Given the description of an element on the screen output the (x, y) to click on. 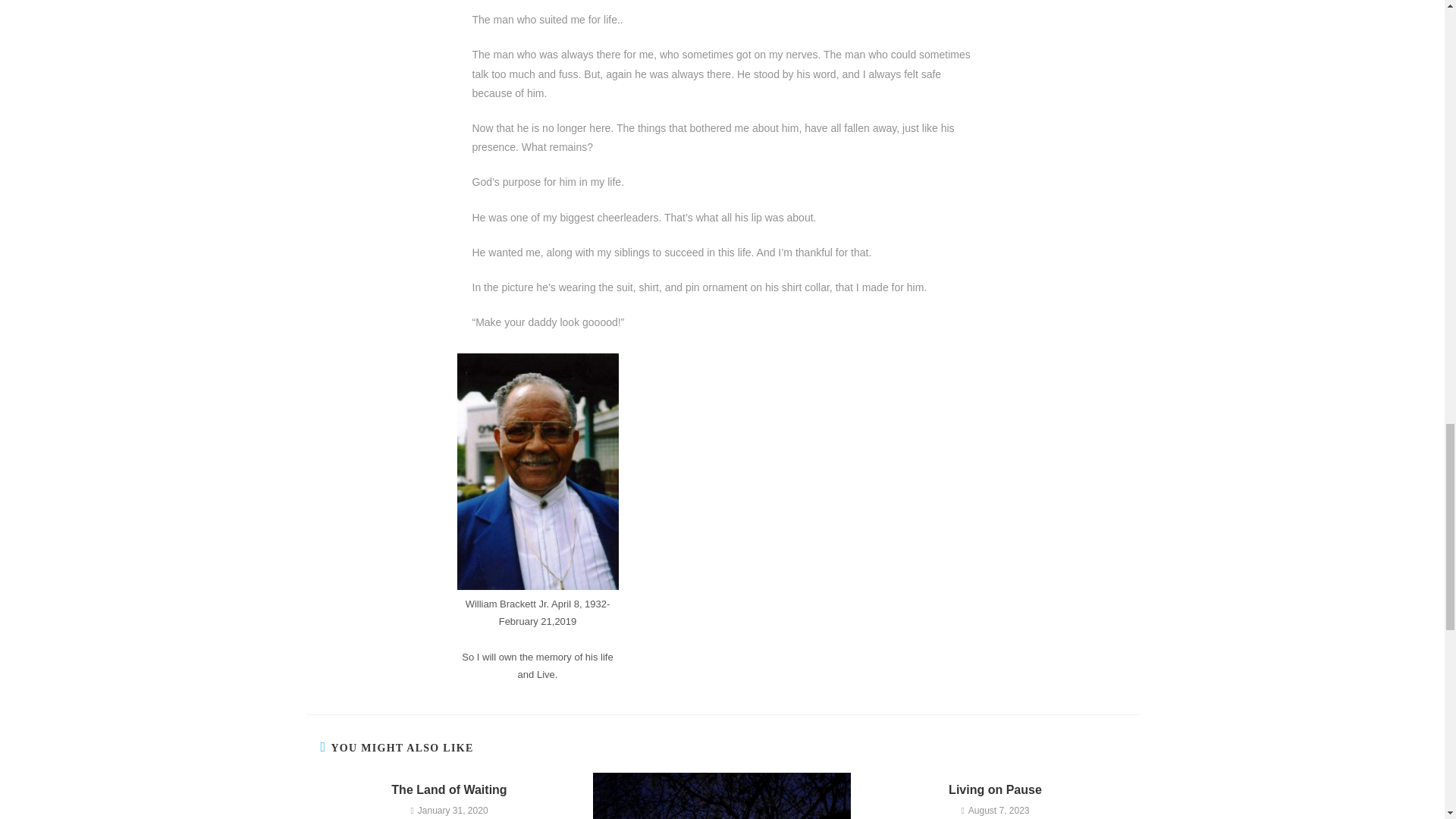
Living on Pause (995, 790)
The Land of Waiting (449, 790)
Living on Pause (995, 790)
The Land of Waiting (449, 790)
